Given the description of an element on the screen output the (x, y) to click on. 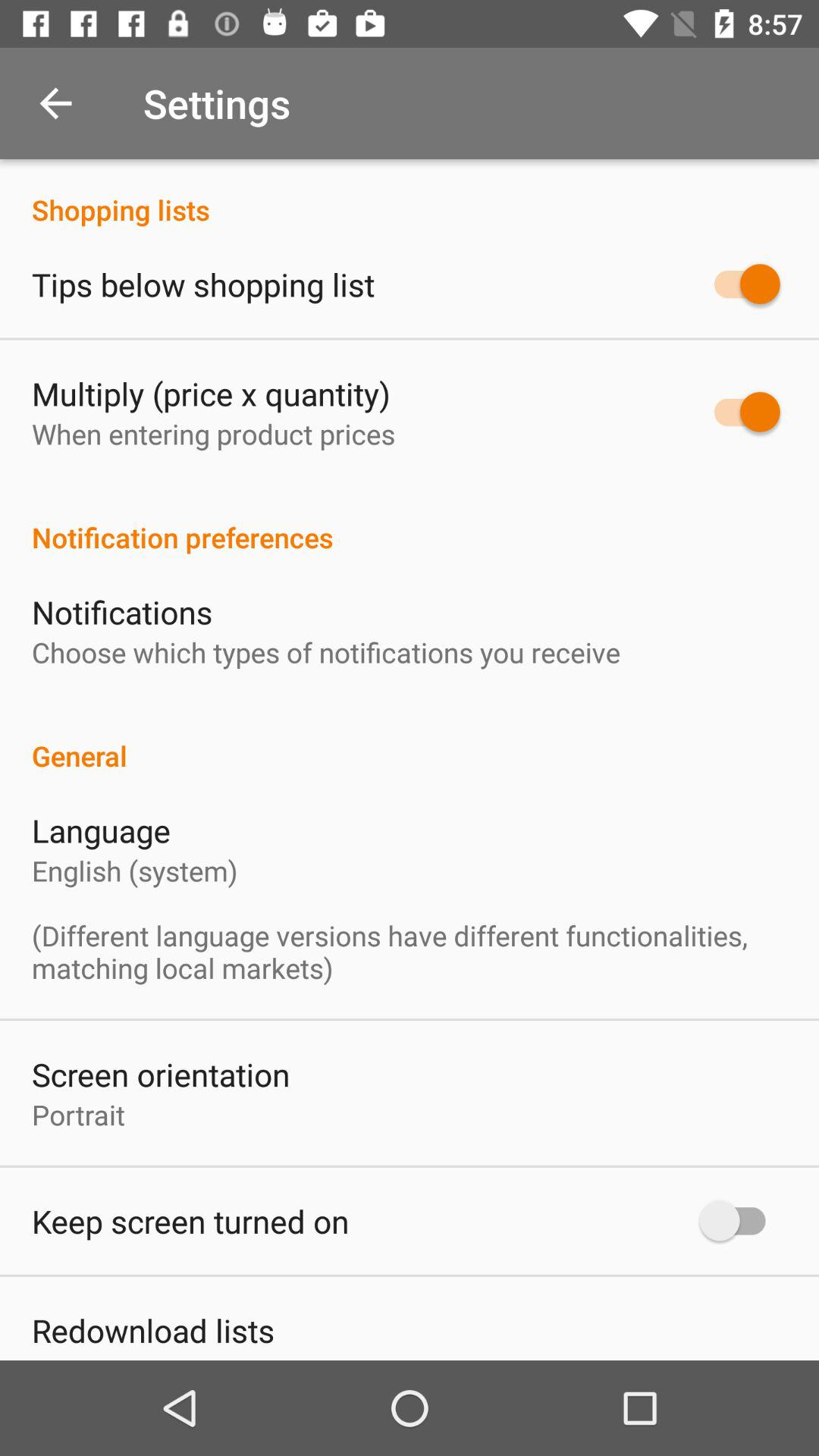
turn off multiply price x icon (210, 393)
